Given the description of an element on the screen output the (x, y) to click on. 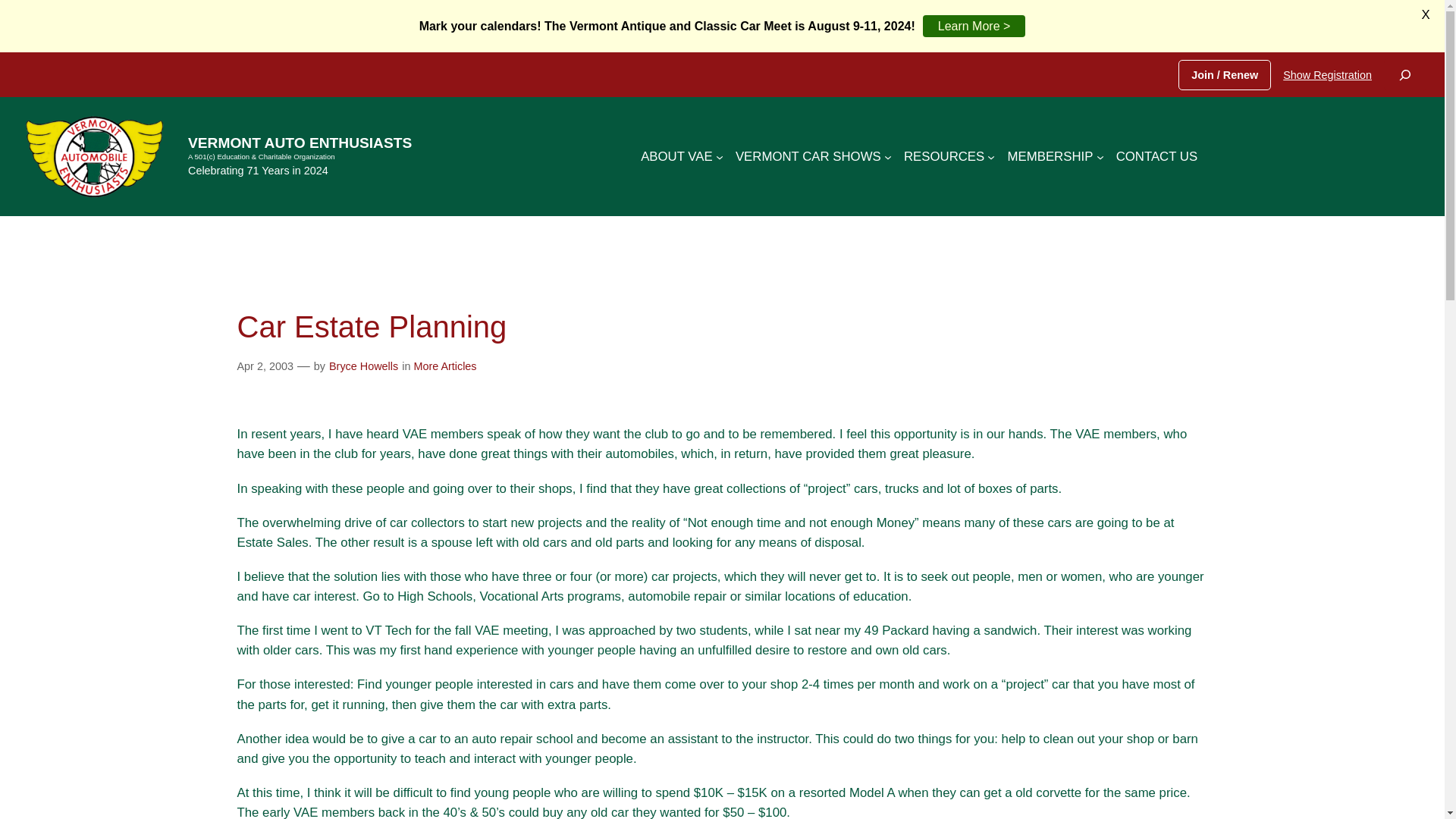
MEMBERSHIP (1050, 157)
Show Registration (1326, 74)
VERMONT CAR SHOWS (807, 157)
VERMONT AUTO ENTHUSIASTS (299, 142)
ABOUT VAE (676, 157)
RESOURCES (944, 157)
